Given the description of an element on the screen output the (x, y) to click on. 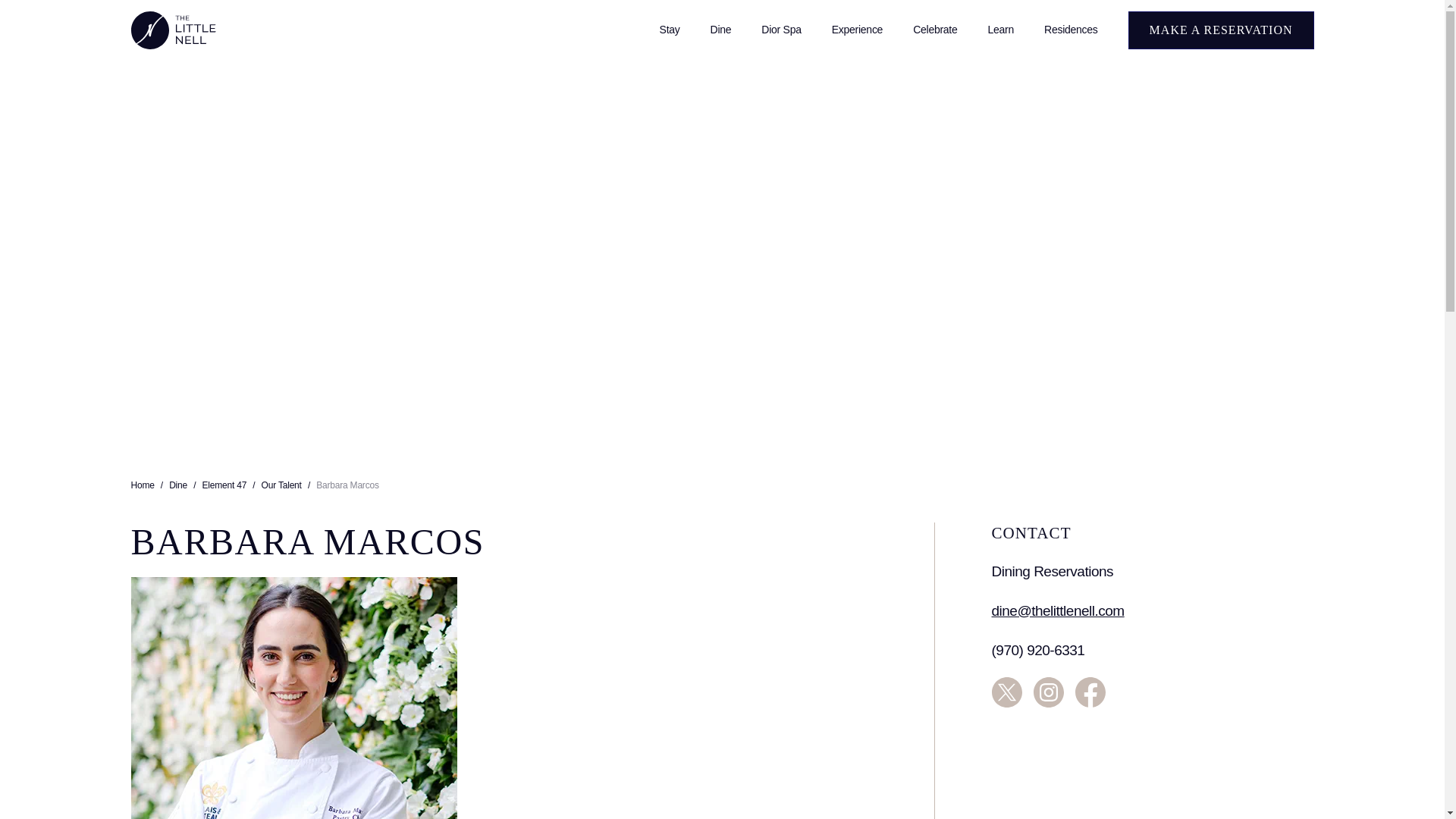
Stay (670, 30)
Dior Spa (780, 30)
Experience (857, 30)
Celebrate (935, 30)
Learn (1000, 30)
The Little Nell (173, 30)
Residences (1071, 30)
Dine (720, 30)
